Given the description of an element on the screen output the (x, y) to click on. 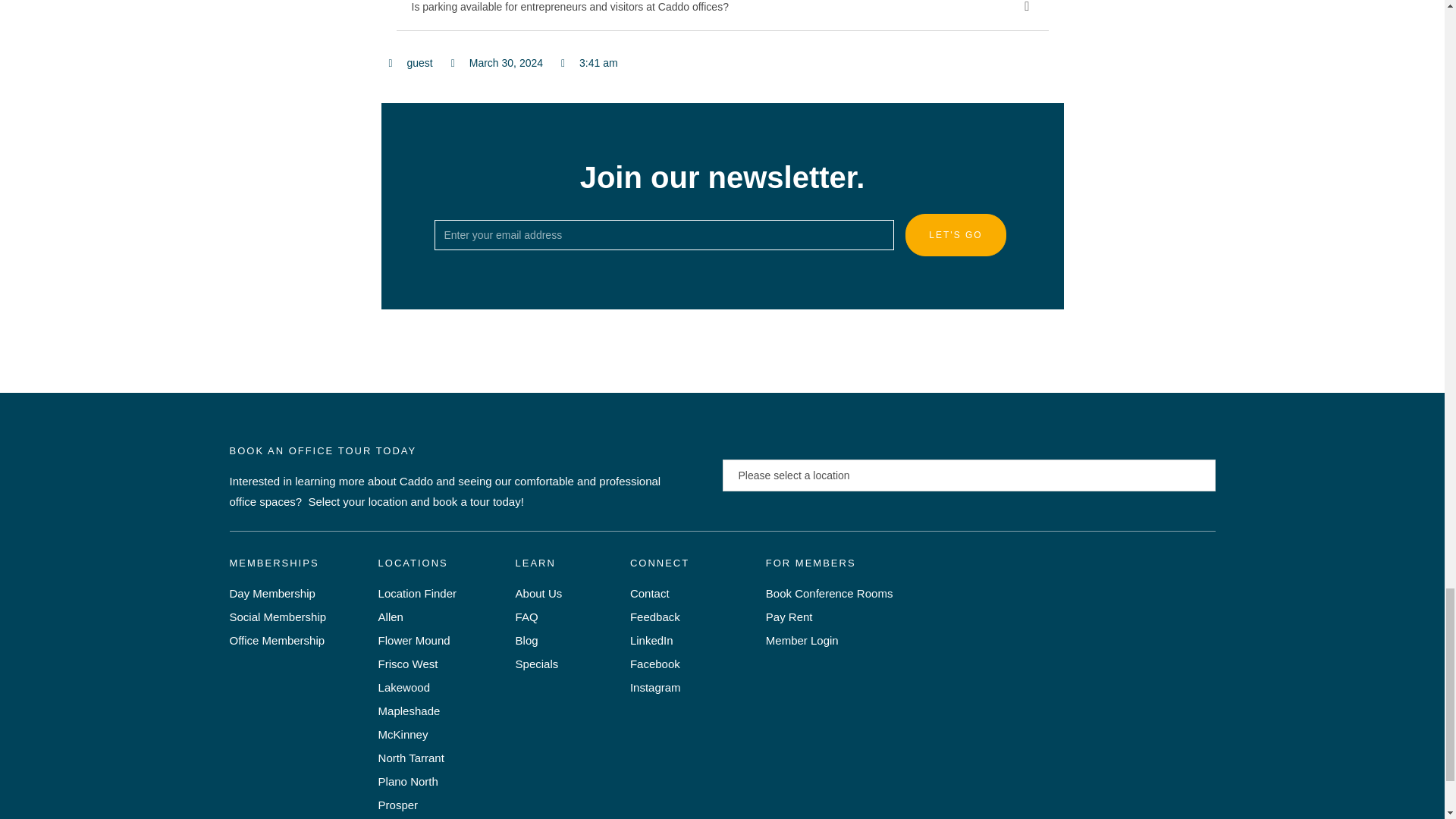
guest (410, 63)
Please select a location (968, 475)
March 30, 2024 (497, 63)
Day Membership (302, 593)
LET'S GO (955, 234)
